Given the description of an element on the screen output the (x, y) to click on. 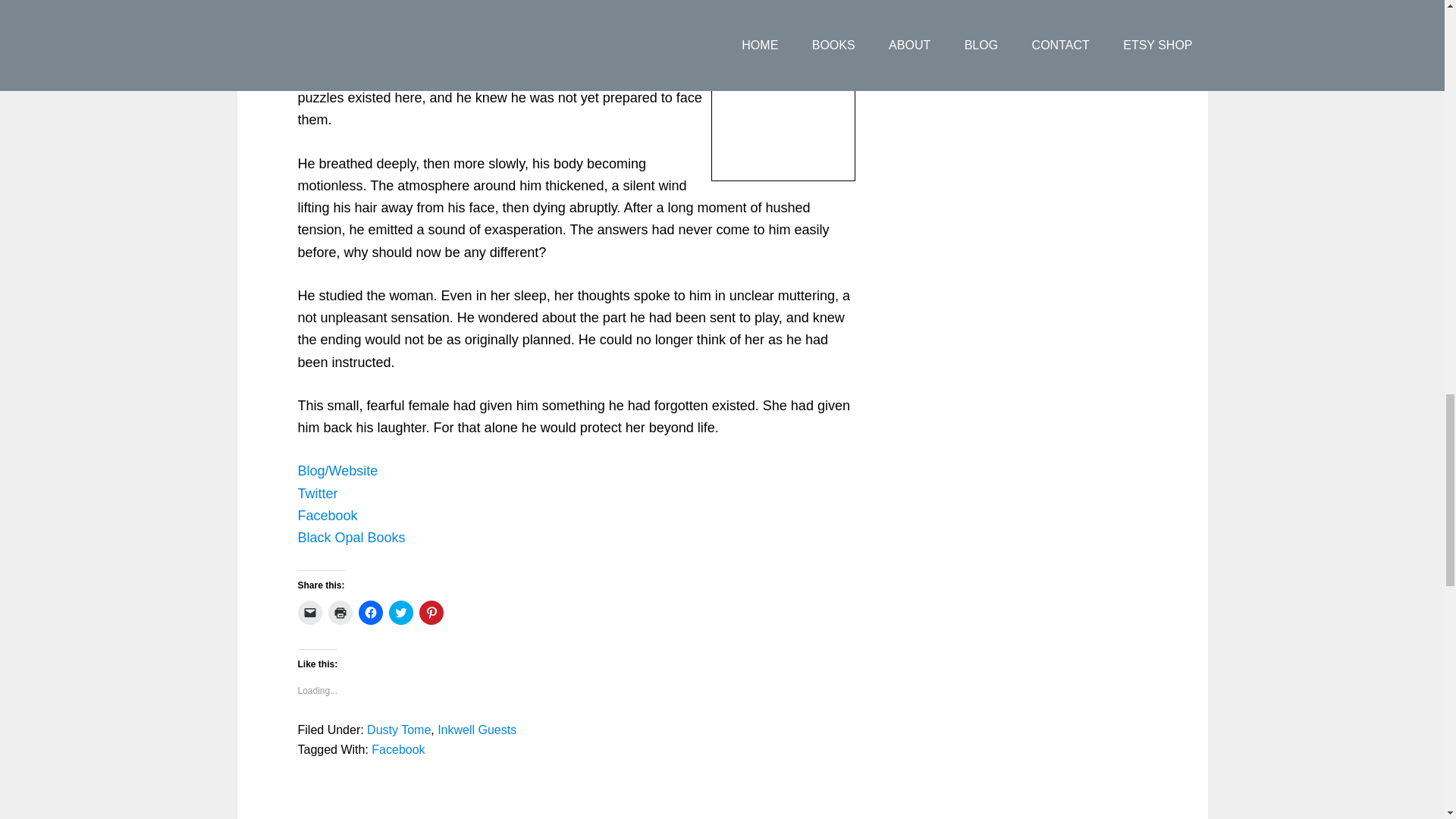
Click to share on Facebook (369, 612)
Facebook (326, 515)
Facebook (398, 748)
Click to share on Twitter (400, 612)
Click to share on Pinterest (430, 612)
Click to print (339, 612)
Click to email a link to a friend (309, 612)
Twitter (317, 493)
Dusty Tome (398, 729)
MyKillerMyLove (783, 90)
Black Opal Books (350, 537)
Inkwell Guests (477, 729)
